Given the description of an element on the screen output the (x, y) to click on. 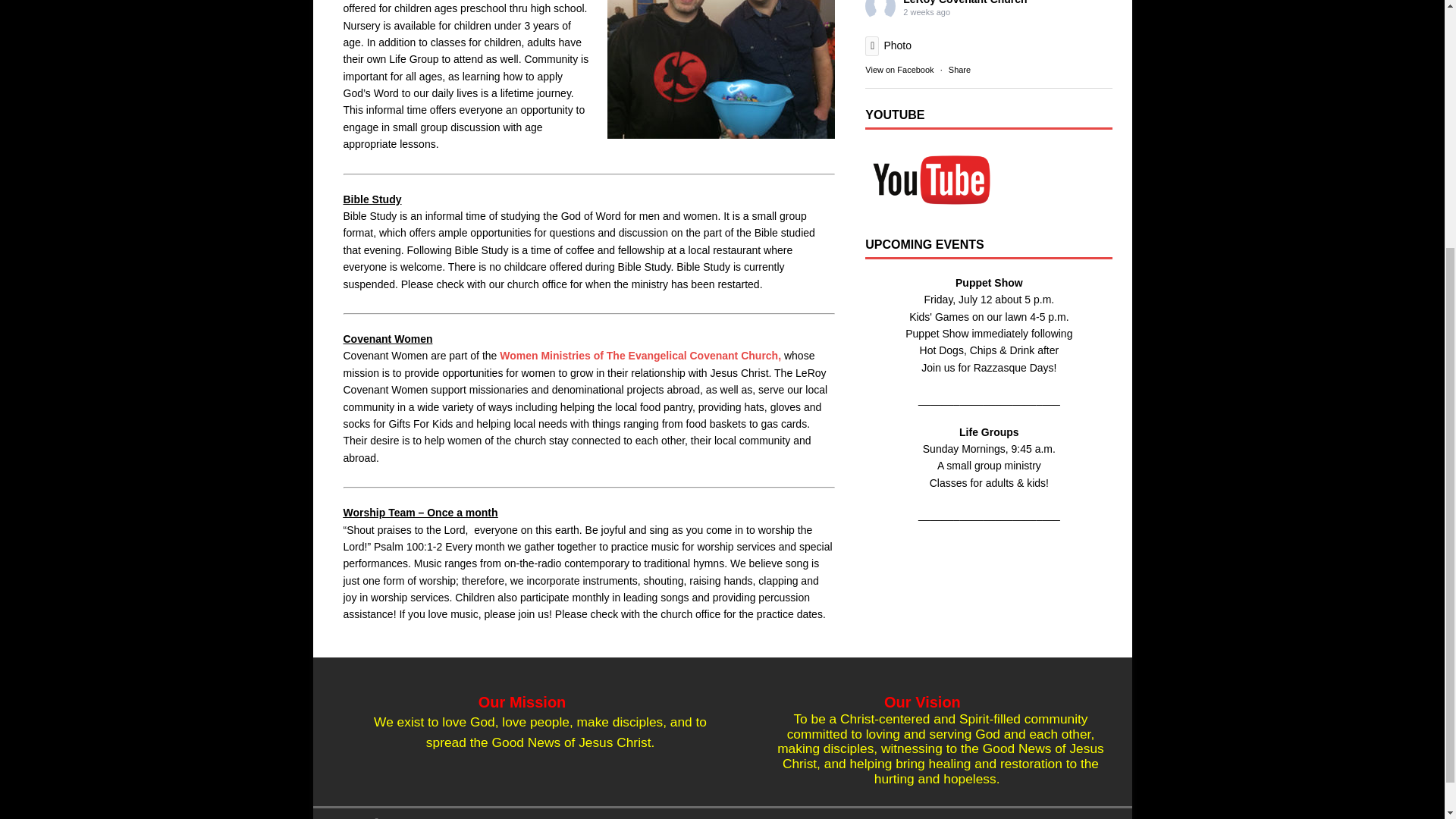
Women Ministries of The Evangelical Covenant Church, (639, 355)
LeRoy Covenant Church (964, 2)
